Given the description of an element on the screen output the (x, y) to click on. 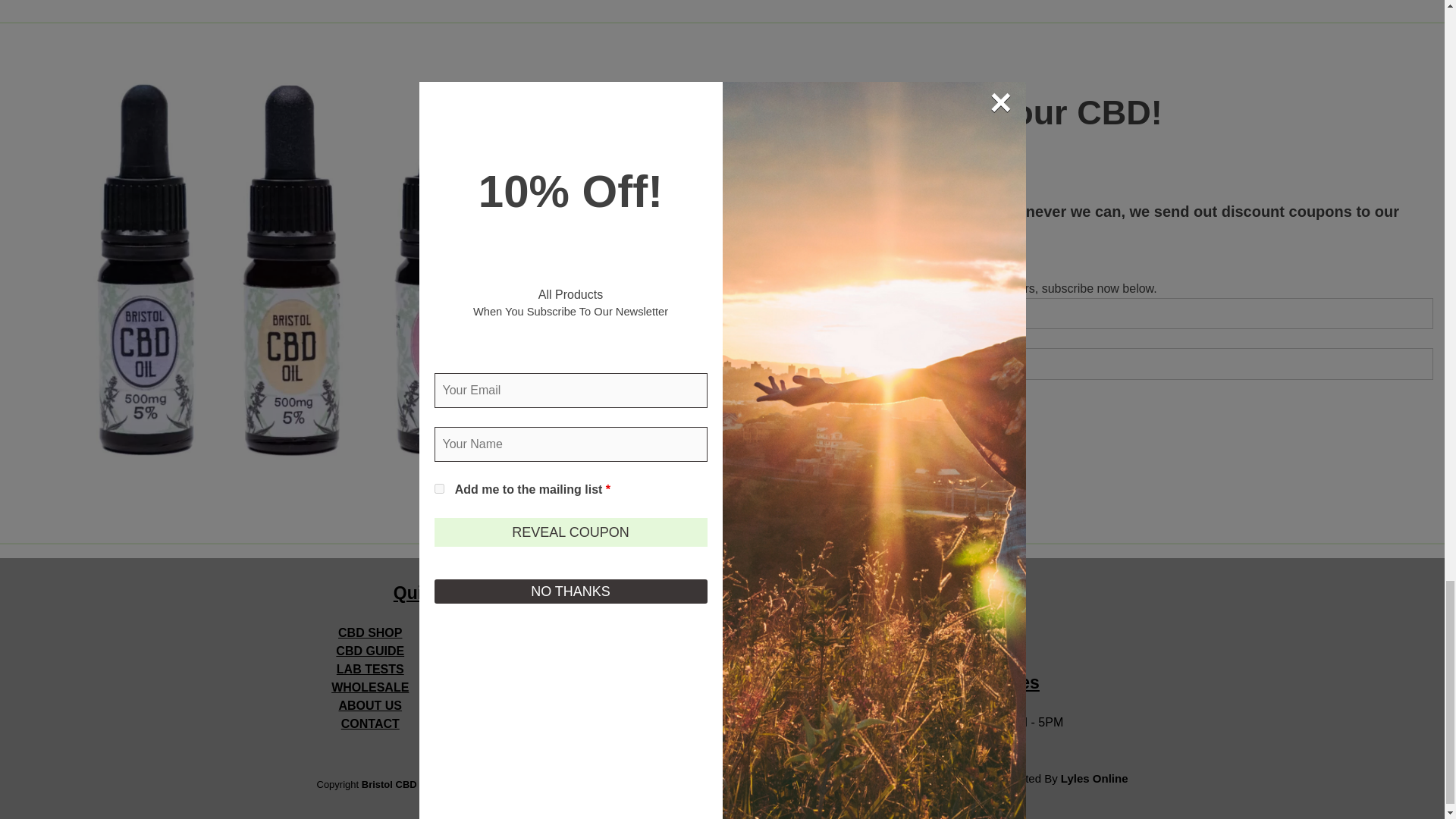
Customer reviews powered by Trustpilot (717, 719)
Subscribe (770, 413)
